Given the description of an element on the screen output the (x, y) to click on. 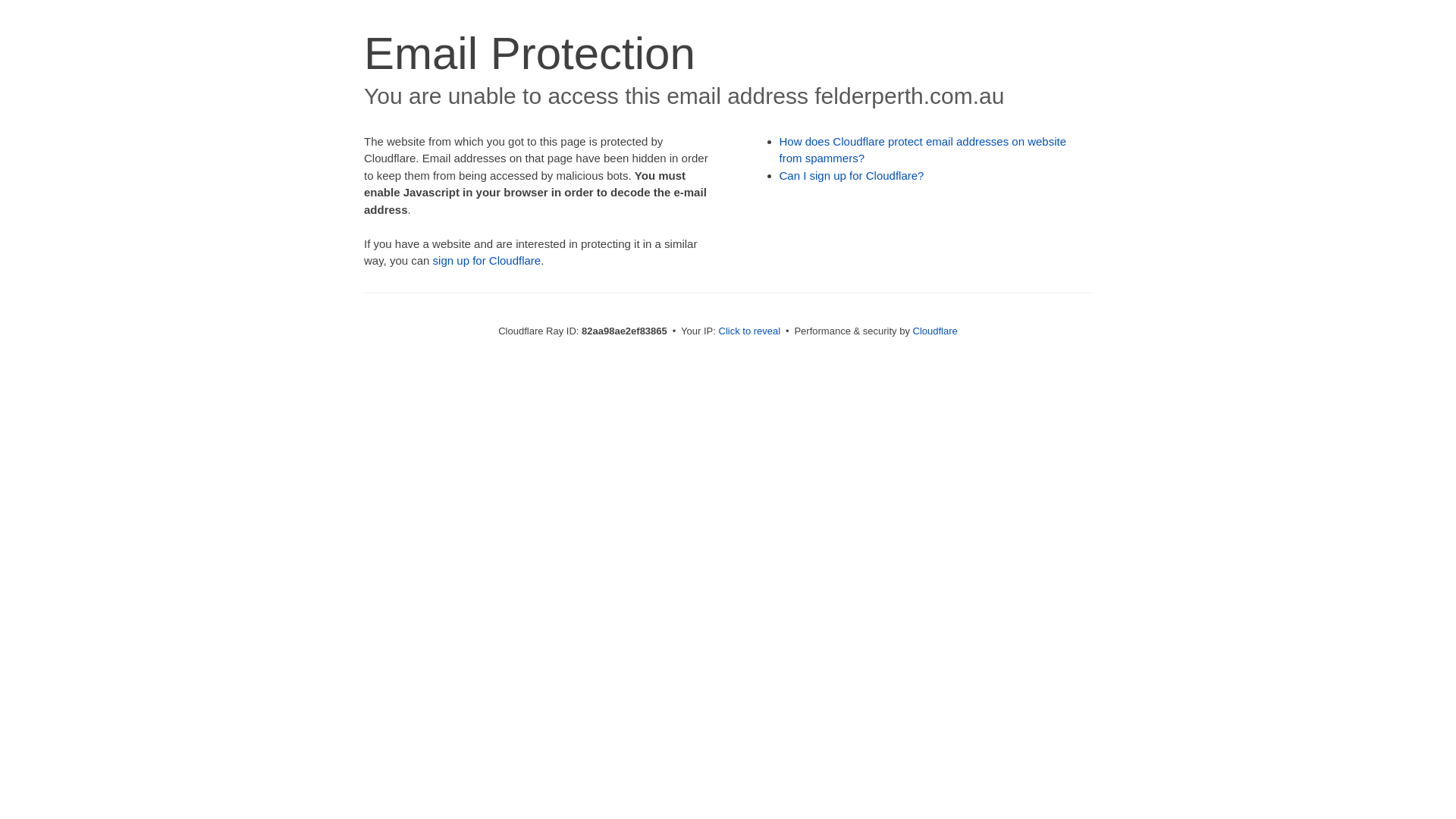
Cloudflare Element type: text (935, 330)
Click to reveal Element type: text (749, 330)
Can I sign up for Cloudflare? Element type: text (851, 175)
sign up for Cloudflare Element type: text (487, 260)
